Given the description of an element on the screen output the (x, y) to click on. 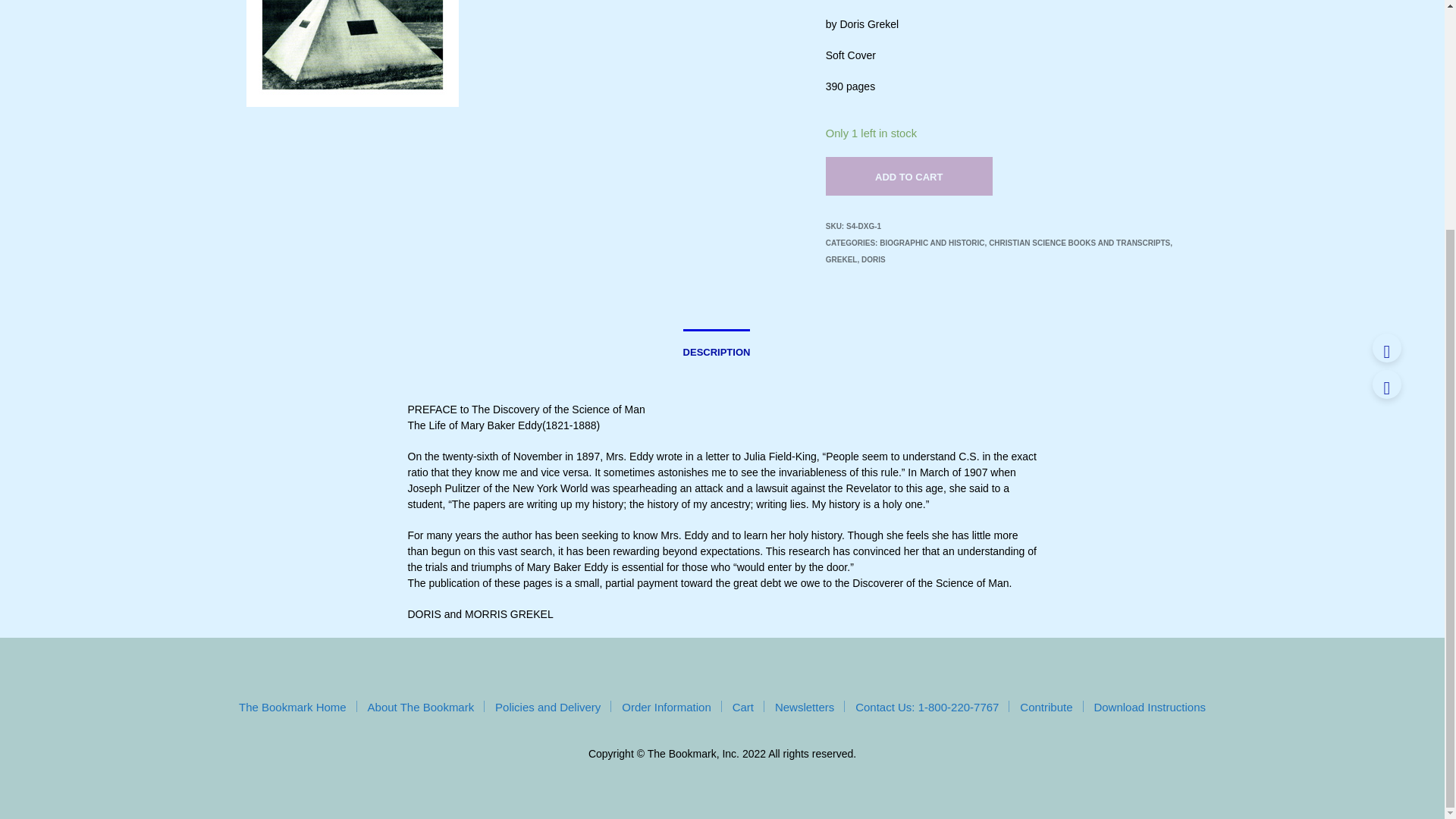
Cart (743, 707)
GREKEL, DORIS (855, 259)
BIOGRAPHIC AND HISTORIC (931, 243)
Download Instructions (1149, 707)
DESCRIPTION (716, 347)
About The Bookmark (421, 707)
Contact Us: 1-800-220-7767 (927, 707)
Contribute (1045, 707)
Order Information (666, 707)
The Bookmark Home (292, 707)
